Given the description of an element on the screen output the (x, y) to click on. 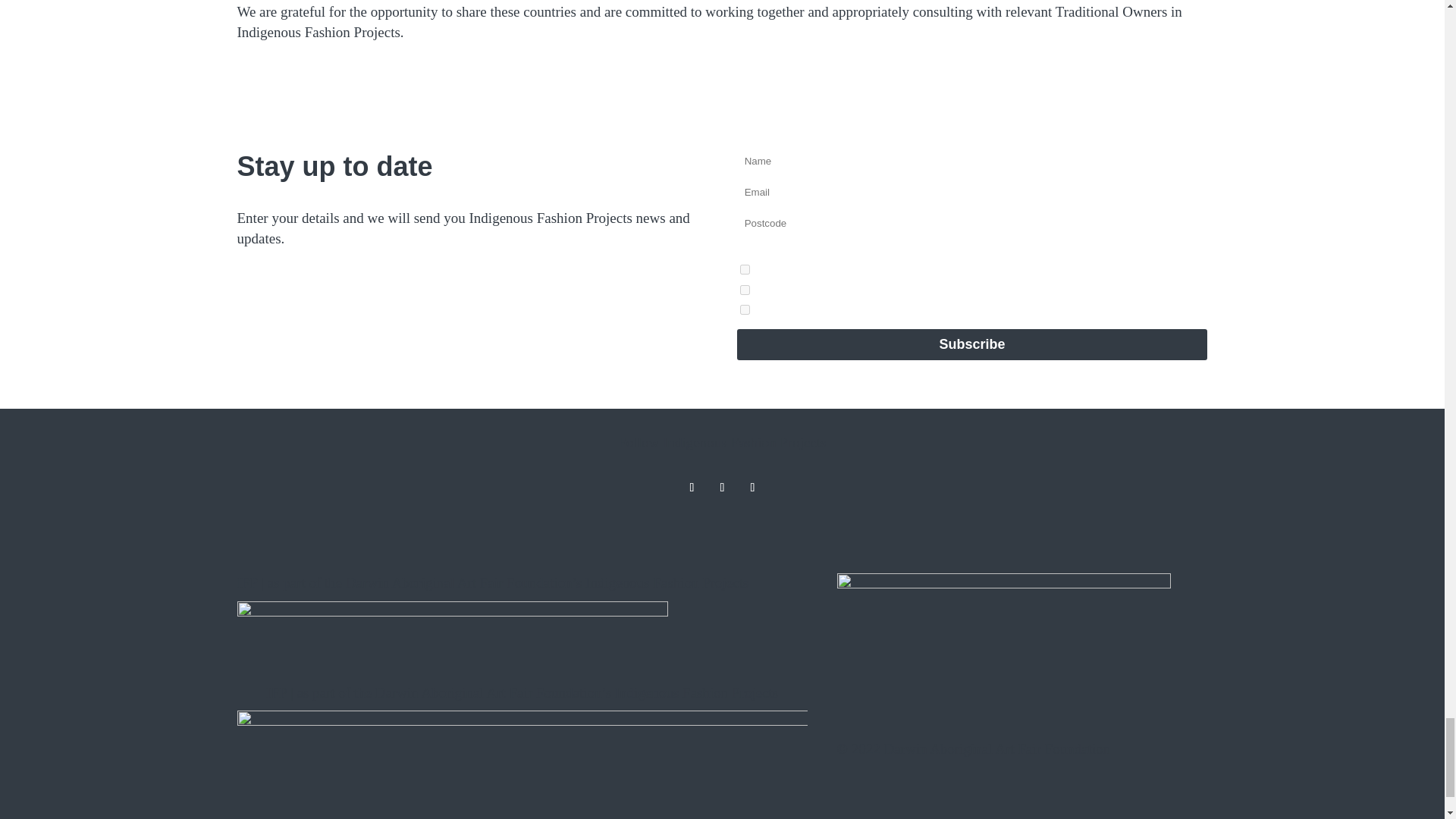
Follow on Instagram (691, 487)
blhjrhr (744, 269)
Follow on Facebook (721, 487)
bukmjr (744, 289)
bukmih (744, 309)
